Given the description of an element on the screen output the (x, y) to click on. 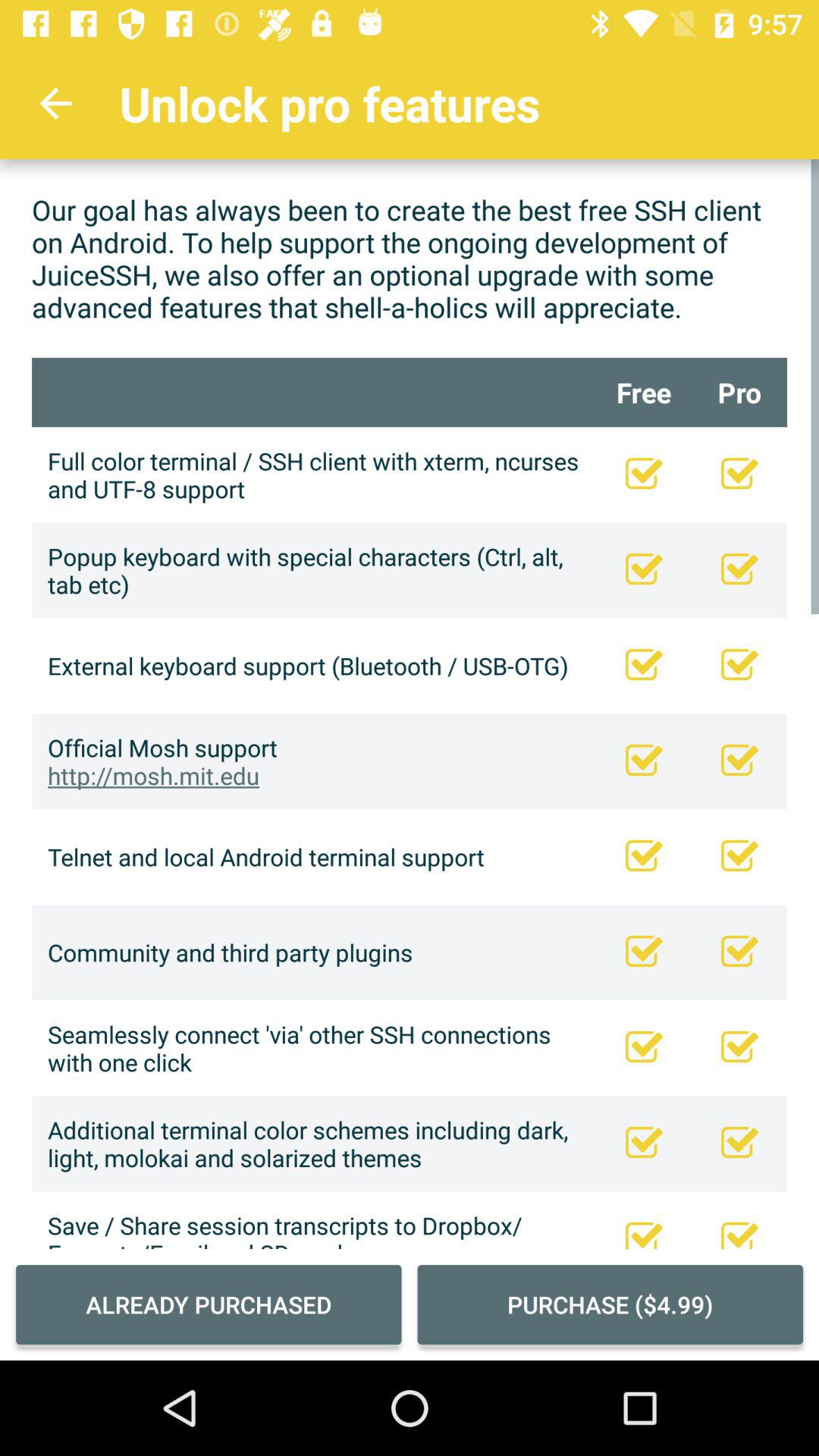
choose the item next to purchase ($4.99) item (208, 1304)
